Given the description of an element on the screen output the (x, y) to click on. 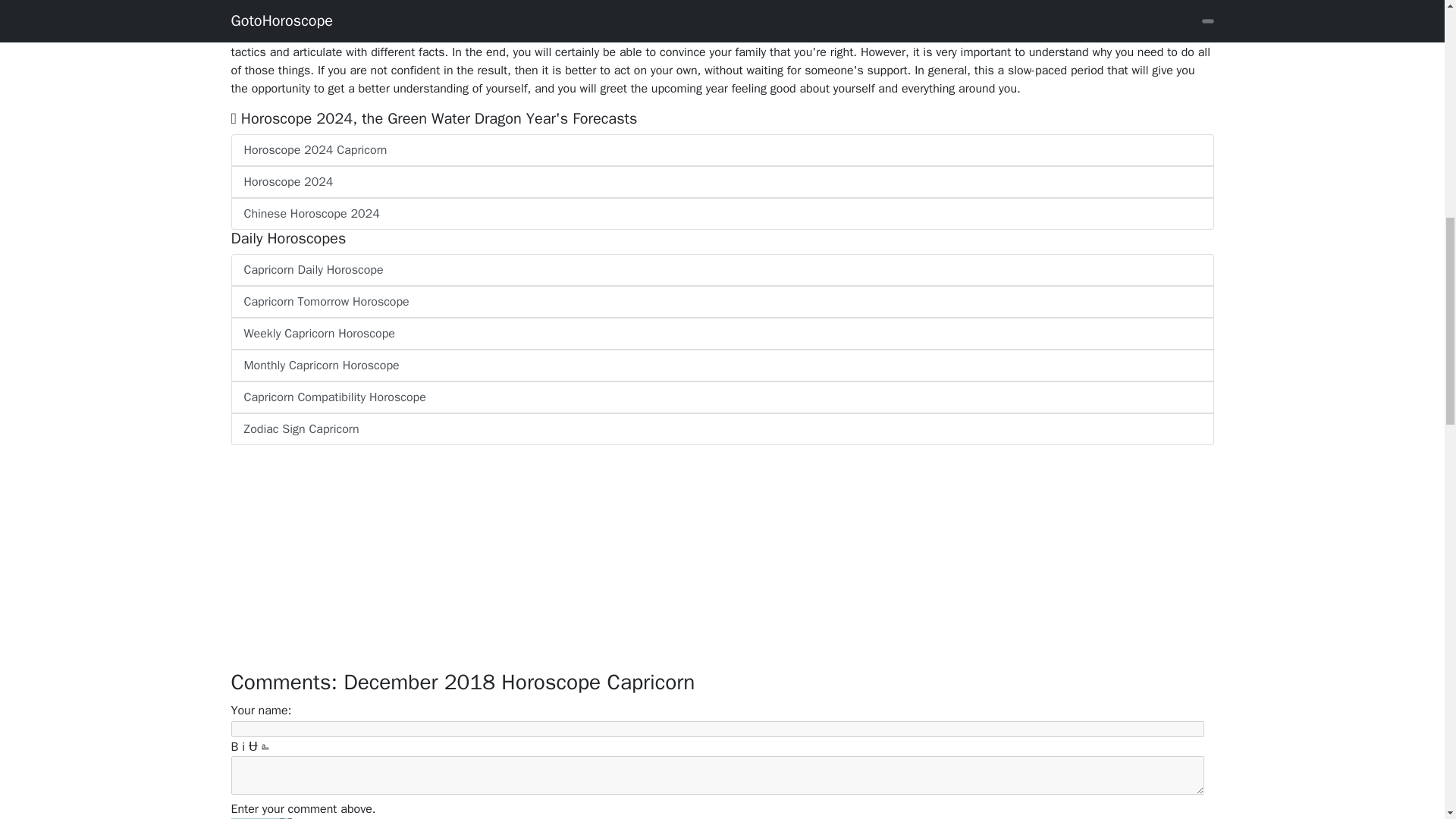
Weekly Capricorn Horoscope (721, 333)
Capricorn Daily Horoscope (721, 269)
Chinese Horoscope 2024 (721, 214)
Capricorn Tomorrow Horoscope (721, 301)
Capricorn Compatibility Horoscope (721, 397)
Horoscope 2024 (721, 182)
Horoscope 2024 Capricorn (721, 150)
Monthly Capricorn Horoscope (721, 365)
Zodiac Sign Capricorn (721, 429)
